Given the description of an element on the screen output the (x, y) to click on. 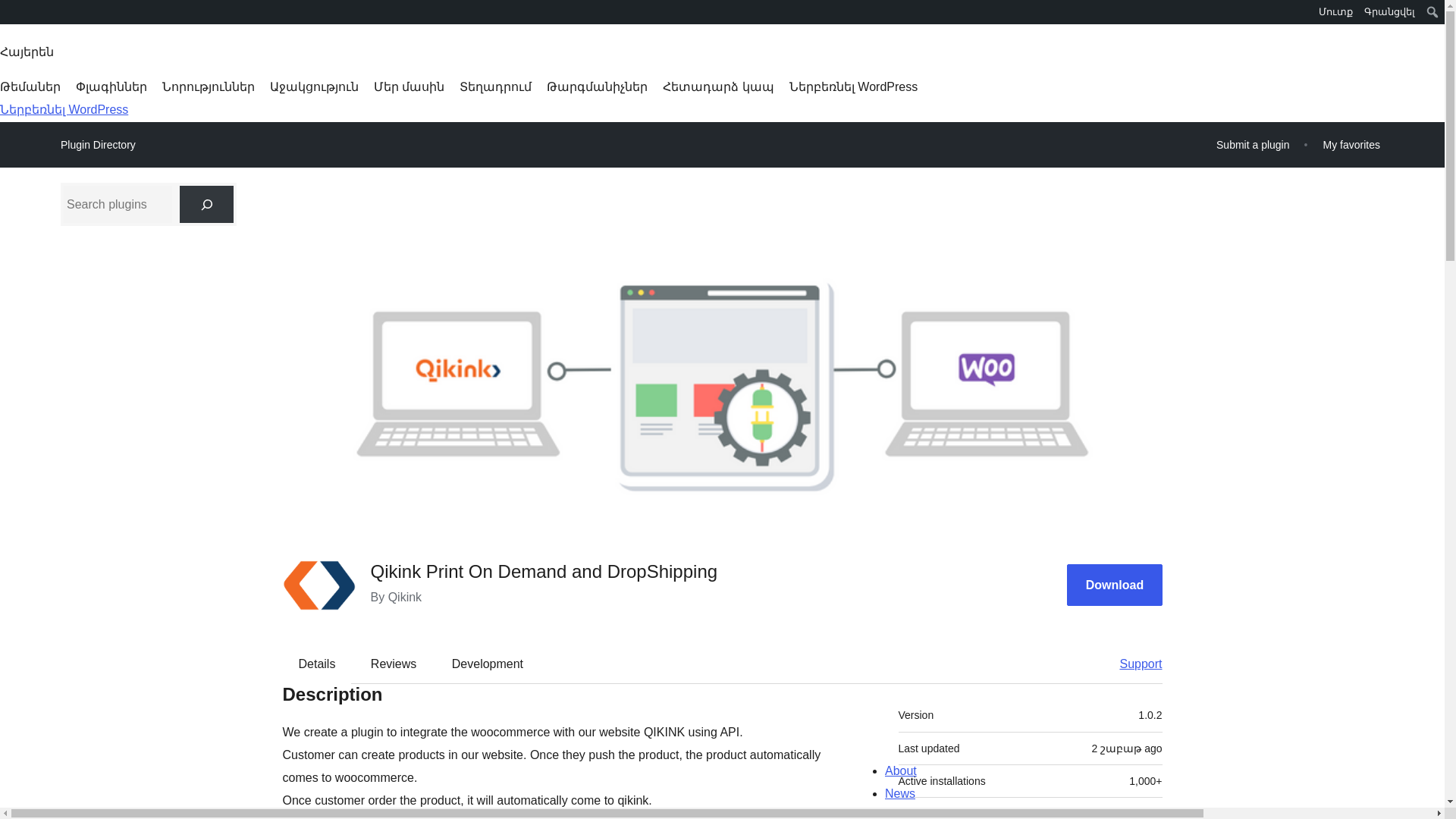
Support (1132, 664)
Details (316, 664)
Download (1114, 585)
Development (487, 664)
Submit a plugin (1253, 144)
Plugin Directory (97, 144)
WordPress.org (10, 10)
My favorites (1351, 144)
WordPress.org (10, 16)
Reviews (392, 664)
